Given the description of an element on the screen output the (x, y) to click on. 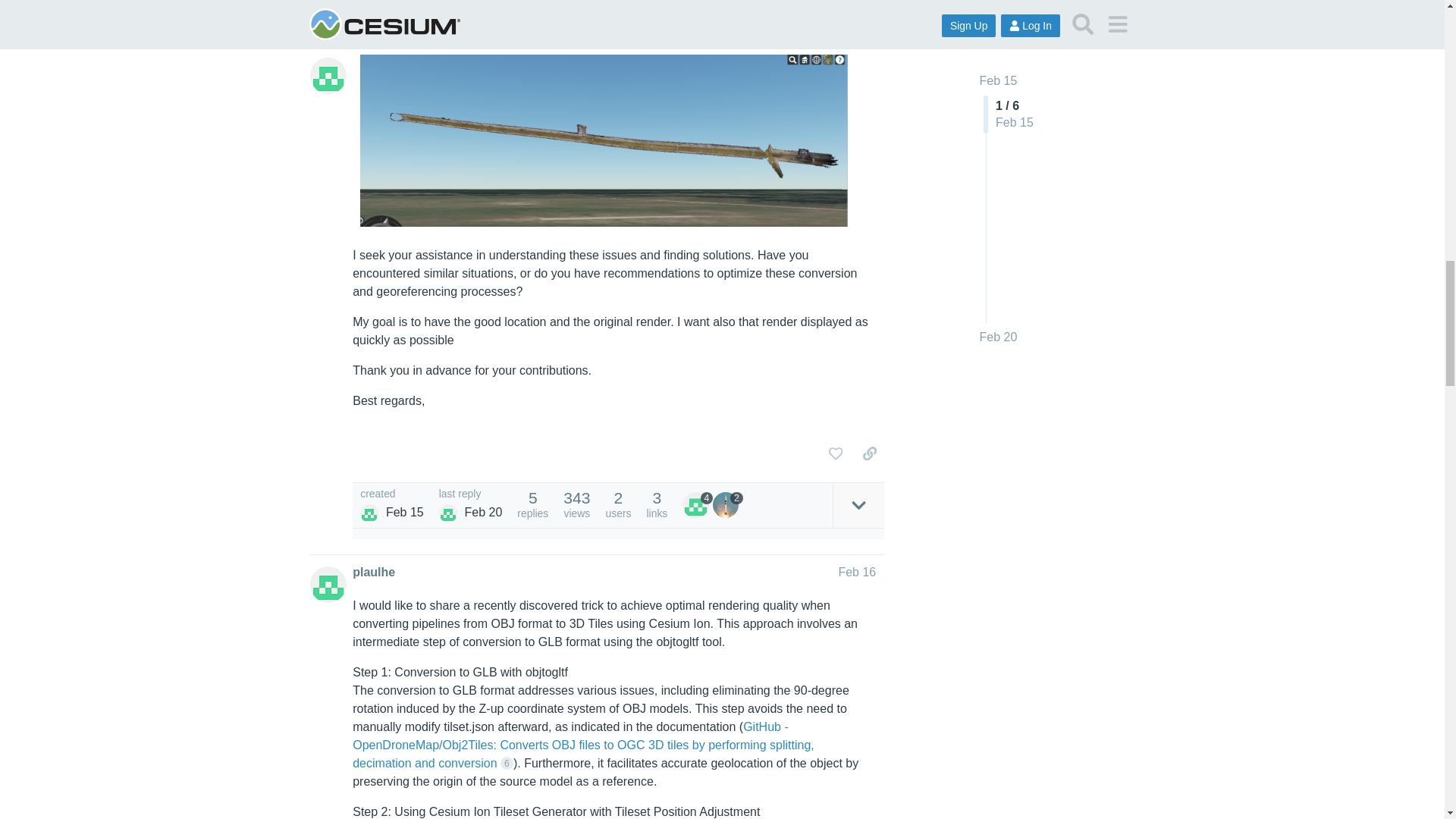
4 (697, 504)
2 (727, 504)
Plaulhe (368, 513)
Please sign up or log in to like this post (835, 453)
Plaulhe (448, 513)
copy a link to this post to clipboard (869, 453)
last reply (470, 493)
plaulhe (373, 572)
Feb 16 (857, 571)
expand topic details (857, 505)
Feb 15, 2024 9:42 pm (404, 512)
